Given the description of an element on the screen output the (x, y) to click on. 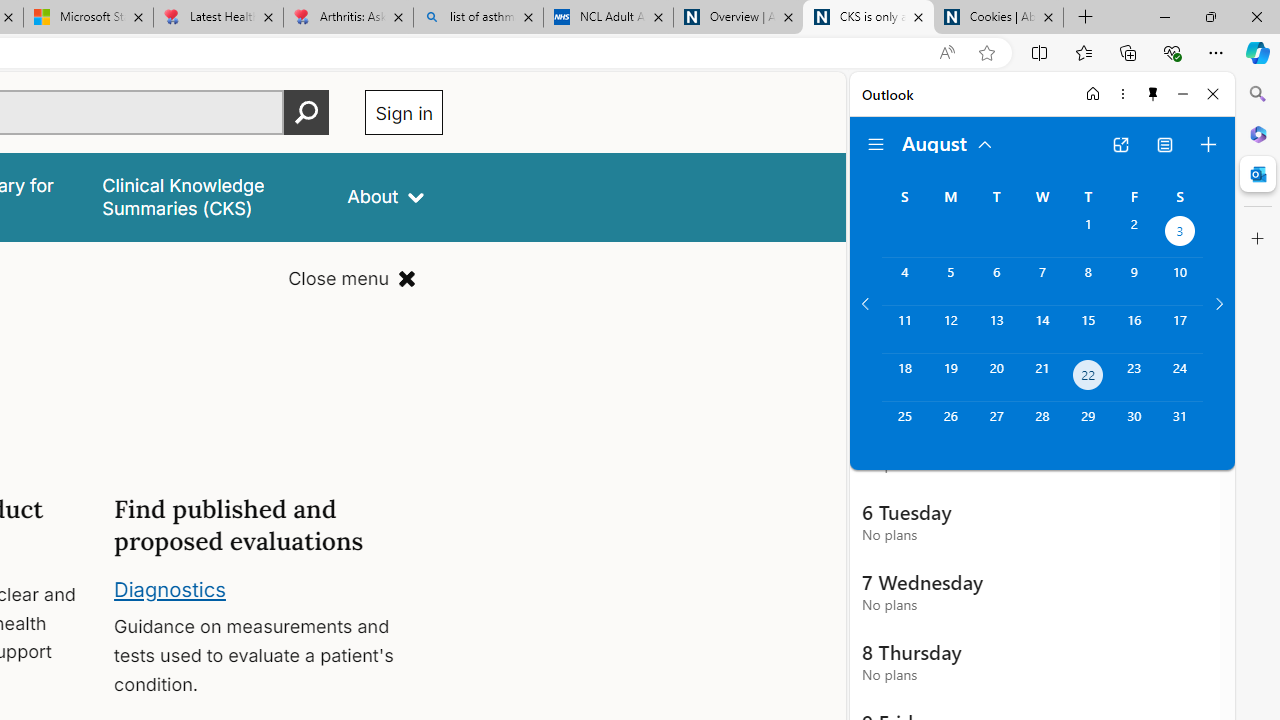
August (948, 141)
Saturday, August 17, 2024.  (1180, 329)
